Given the description of an element on the screen output the (x, y) to click on. 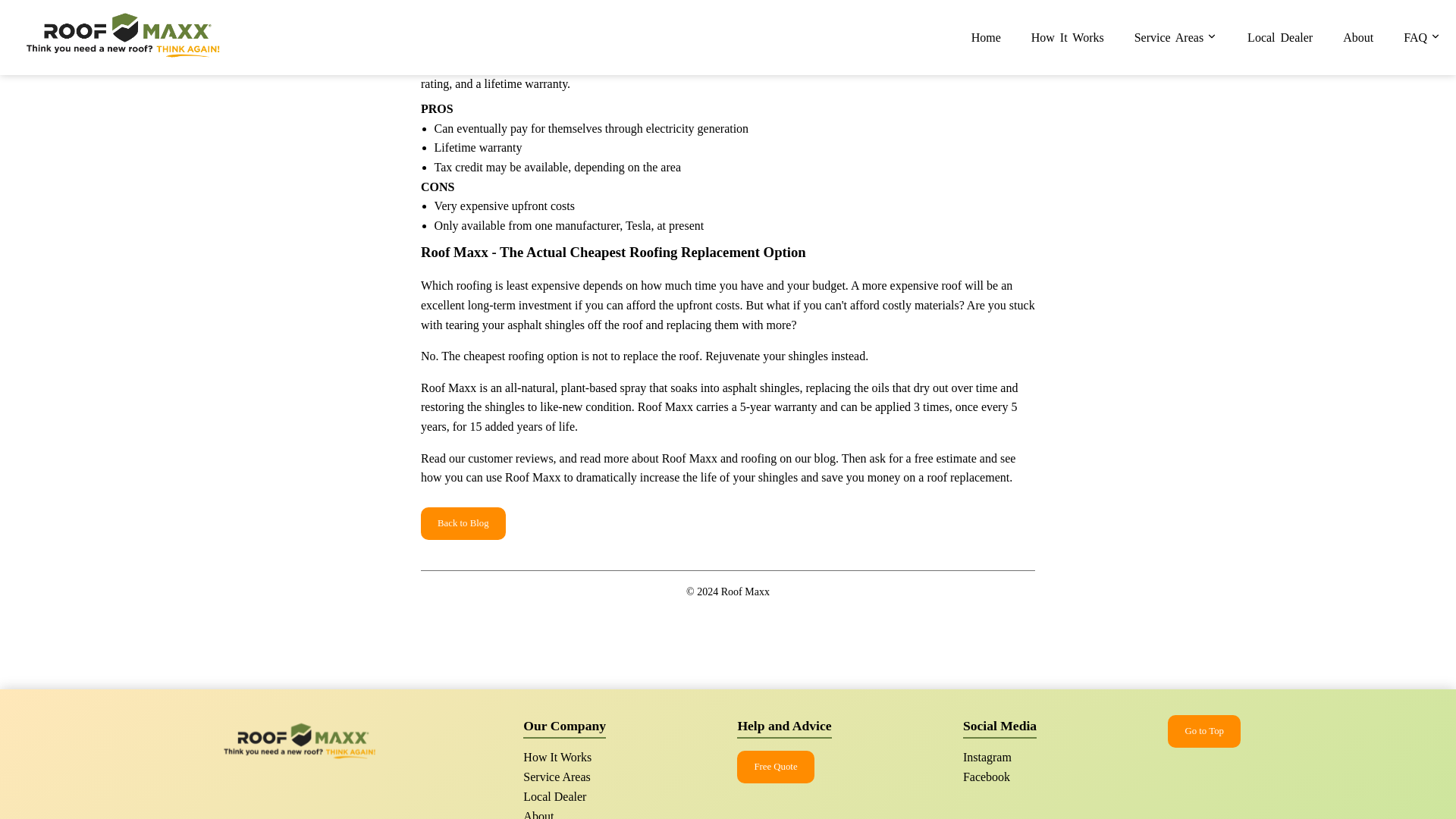
Go to Top (1203, 730)
How It Works (556, 756)
Back to Blog (462, 521)
Local Dealer (554, 795)
Service Areas (555, 775)
Free Quote (774, 766)
Facebook (986, 775)
Back to Blog (462, 522)
Instagram (986, 756)
